Given the description of an element on the screen output the (x, y) to click on. 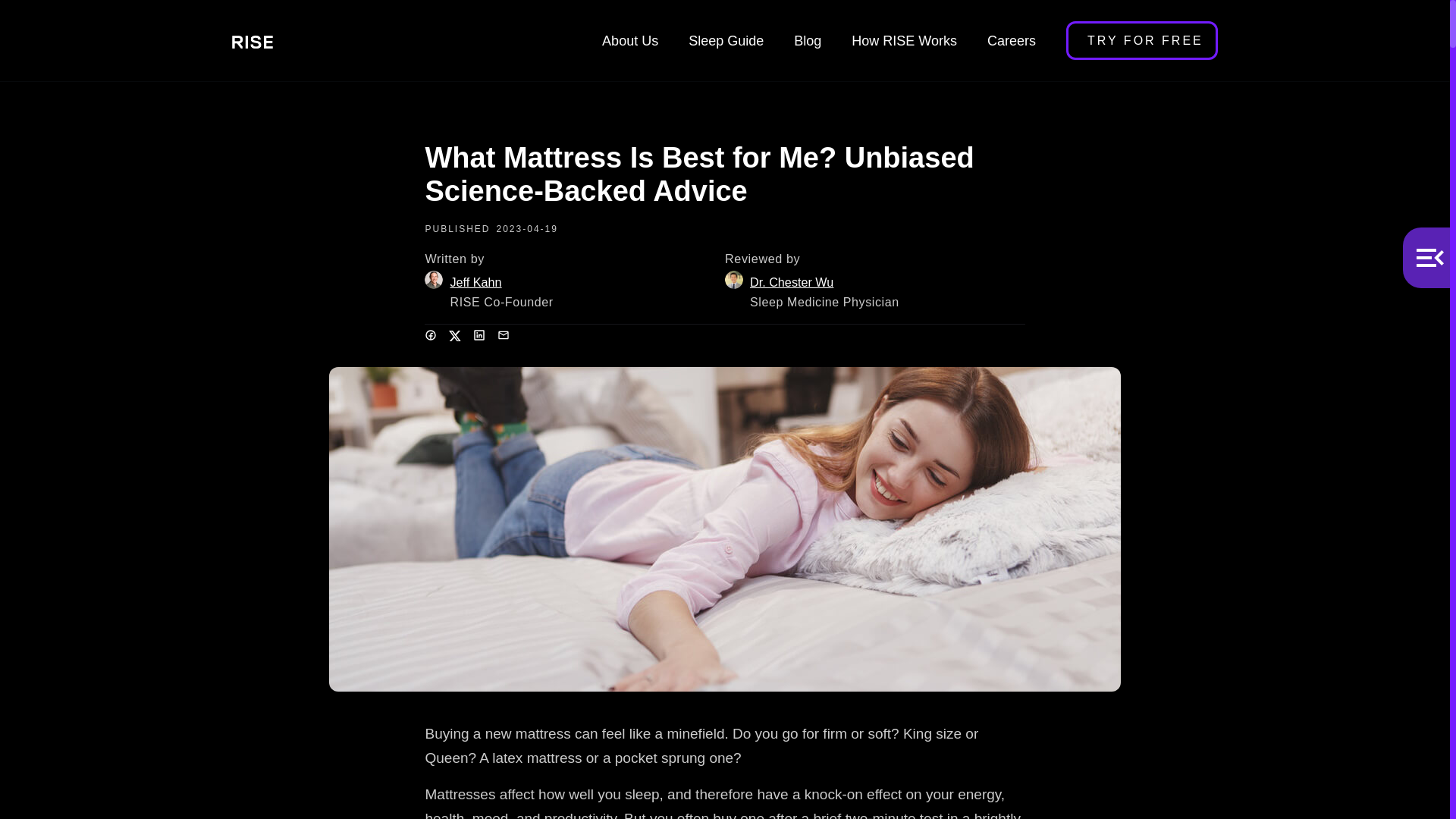
Sleep Guide (725, 40)
Blog (806, 40)
About Us (629, 40)
How RISE Works (903, 40)
Jeff Kahn (501, 282)
Dr. Chester Wu (824, 282)
Careers (1011, 40)
TRY FOR FREE (1141, 40)
